Given the description of an element on the screen output the (x, y) to click on. 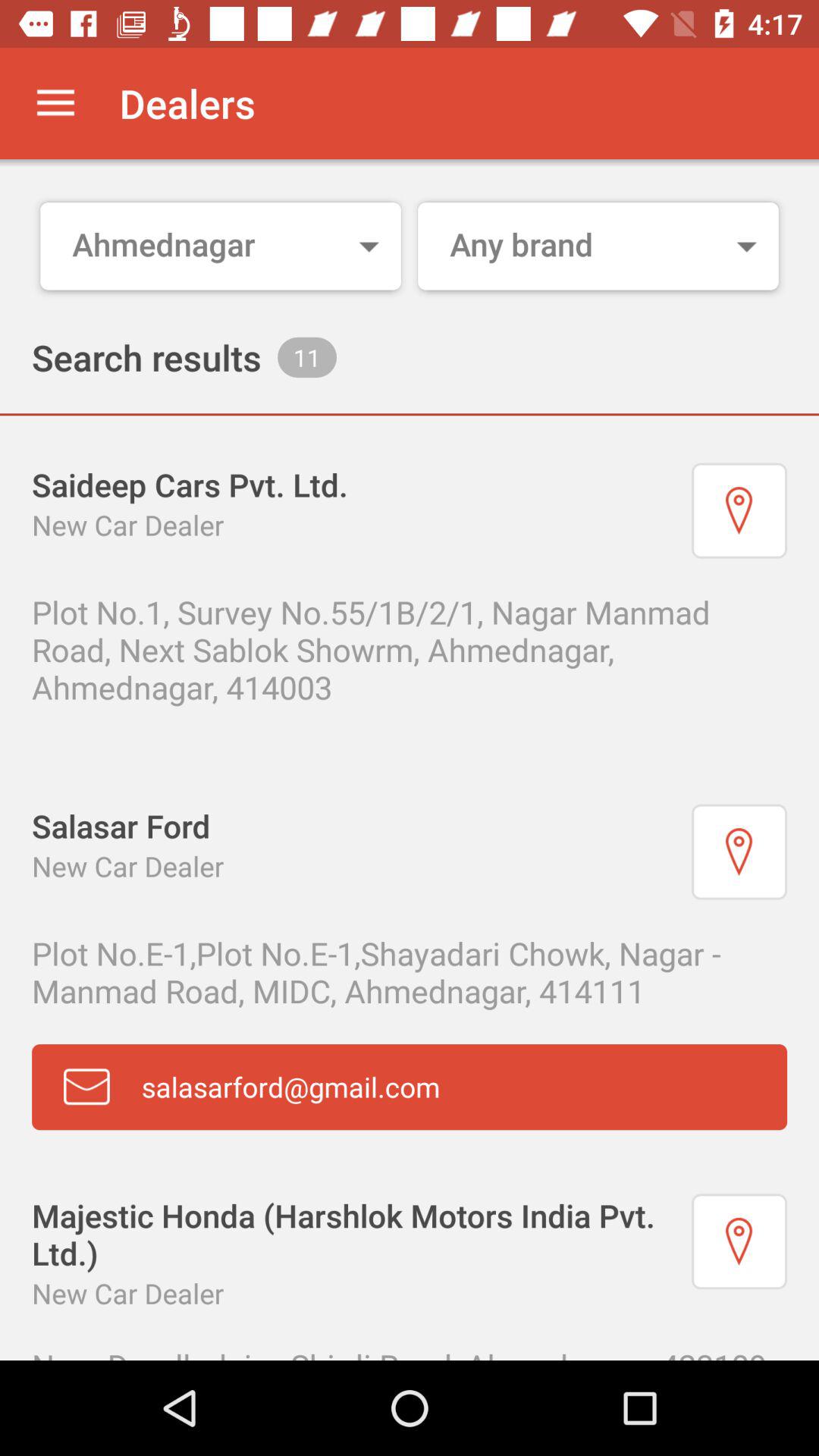
see on map (739, 1241)
